Given the description of an element on the screen output the (x, y) to click on. 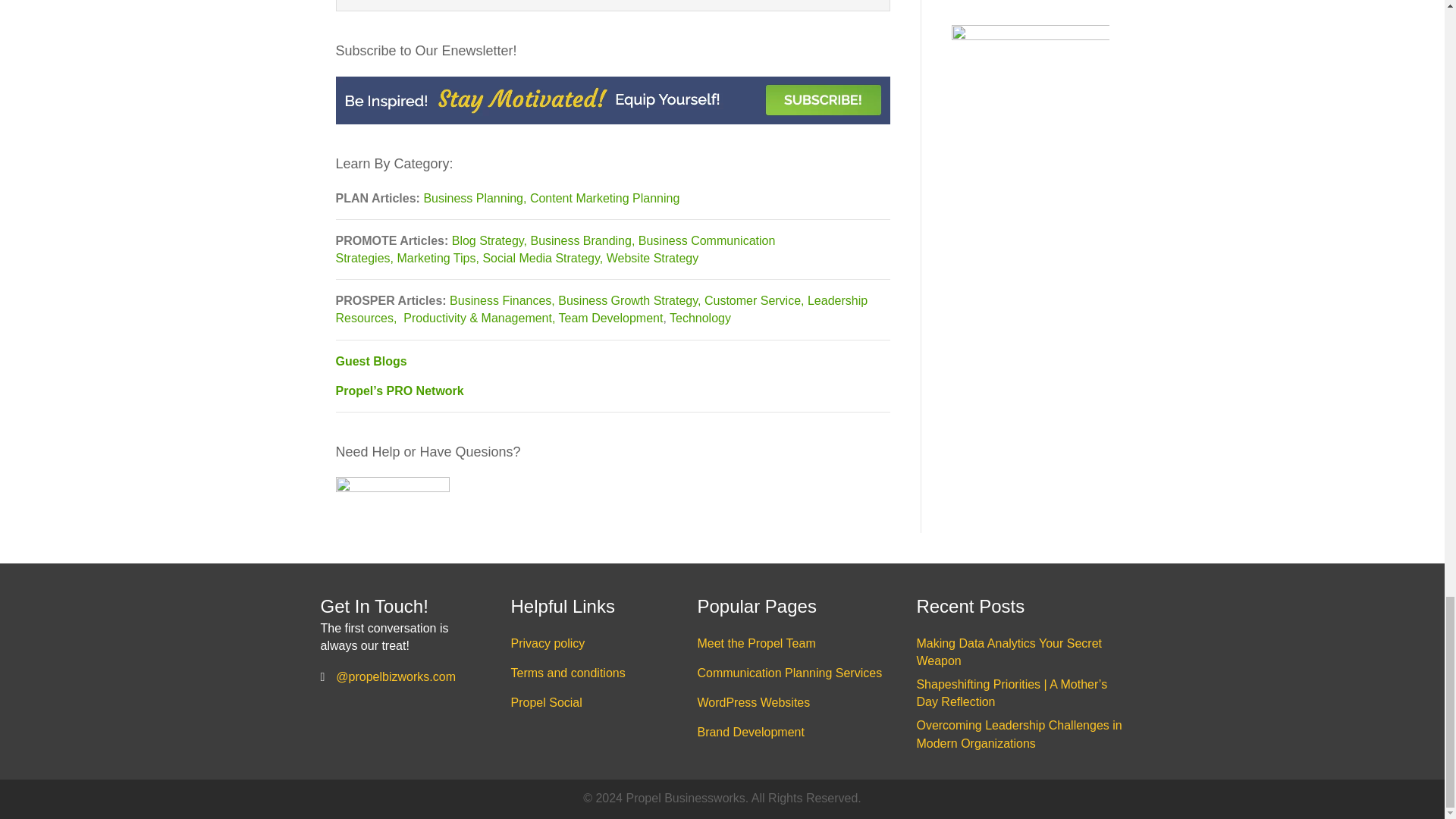
Content Marketing Planning (604, 197)
Need Help or Have Quesions? (391, 489)
Blog Strategy,  (491, 240)
Business Planning,  (476, 197)
